Given the description of an element on the screen output the (x, y) to click on. 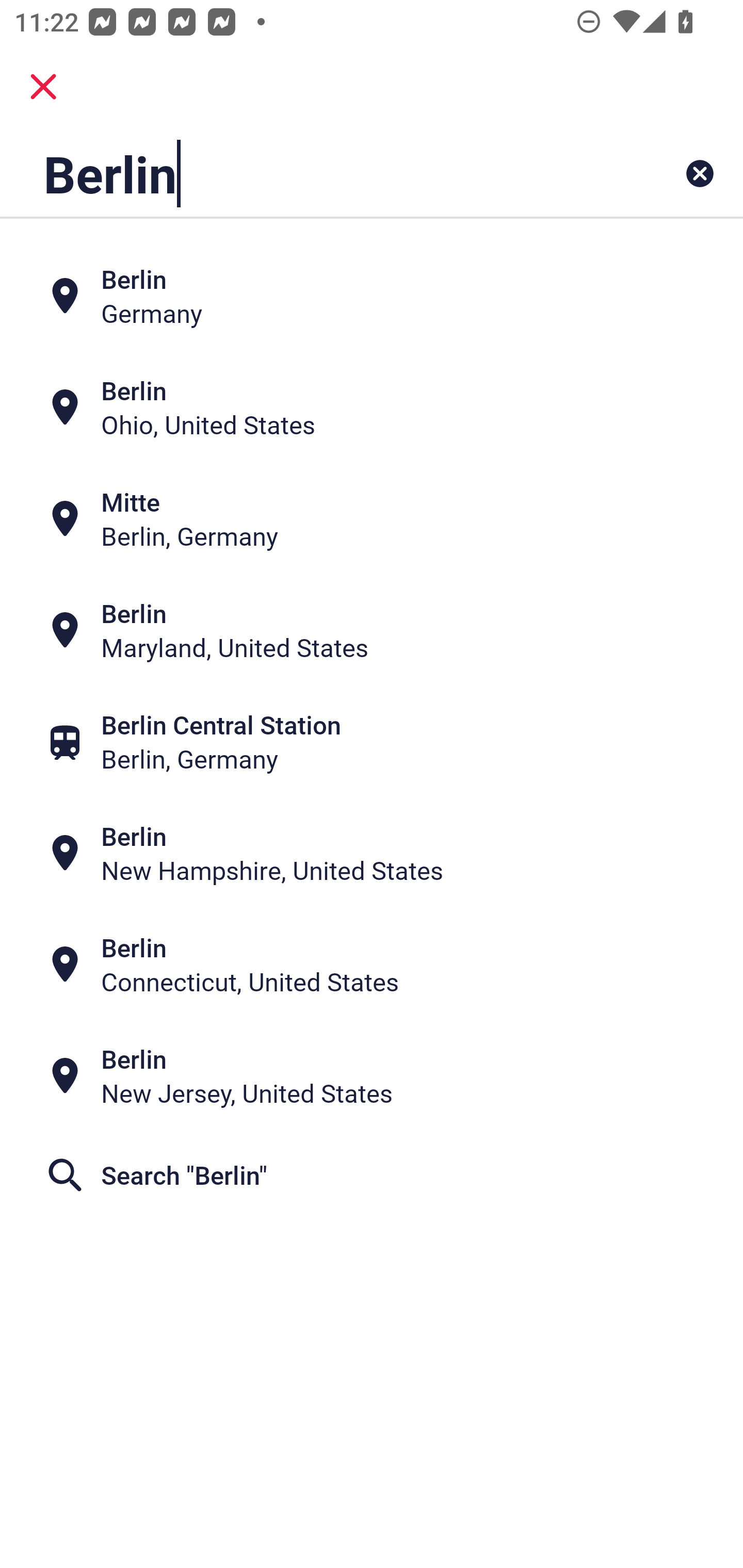
close. (43, 86)
Clear (699, 173)
Berlin (306, 173)
Berlin Germany (371, 295)
Berlin Ohio, United States (371, 406)
Mitte Berlin, Germany (371, 517)
Berlin Maryland, United States (371, 629)
Berlin Central Station Berlin, Germany (371, 742)
Berlin New Hampshire, United States (371, 853)
Berlin Connecticut, United States (371, 964)
Berlin New Jersey, United States (371, 1076)
Search "Berlin" (371, 1175)
